Given the description of an element on the screen output the (x, y) to click on. 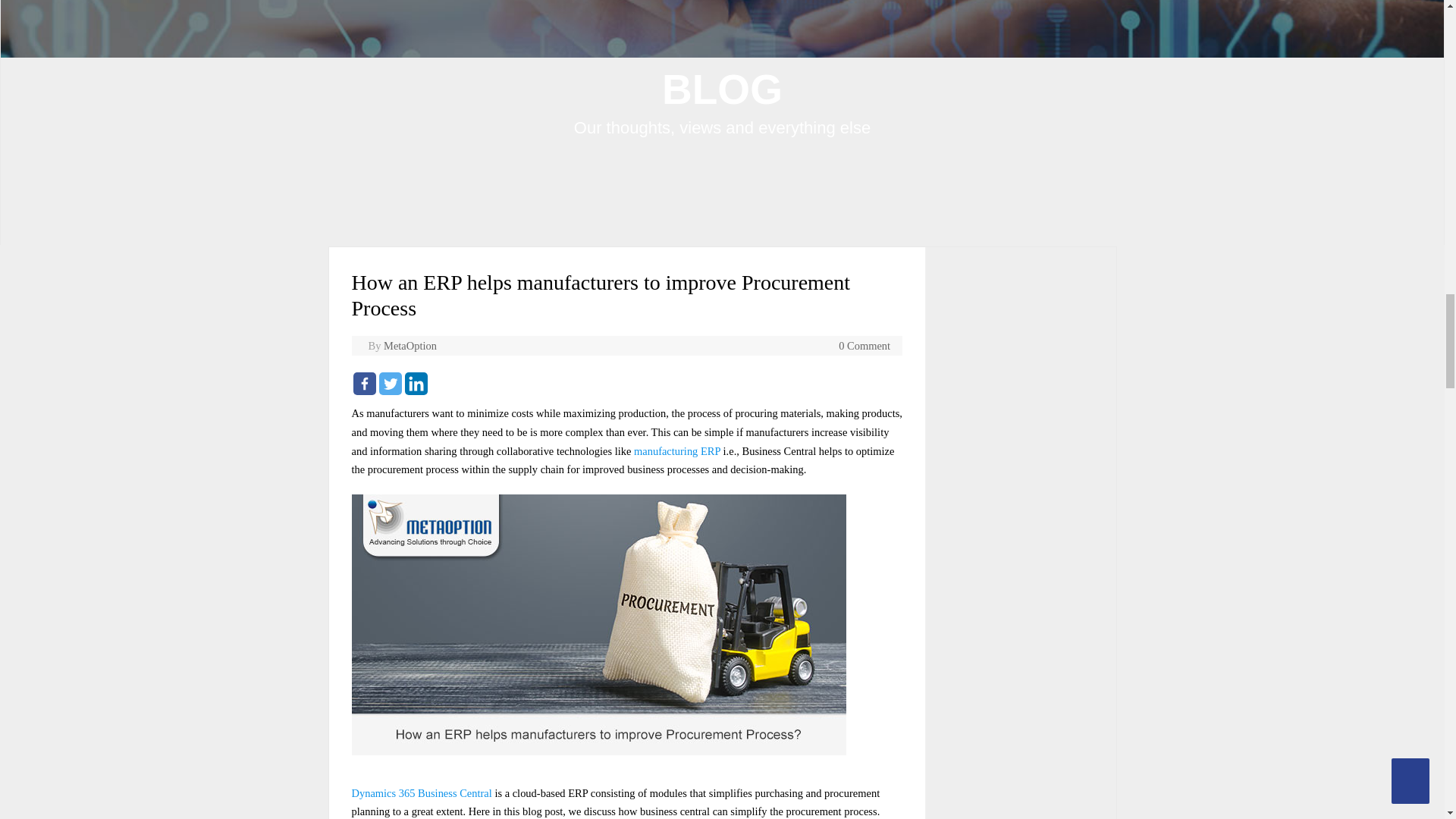
Skip to content (755, 249)
Twitter (389, 383)
Facebook (364, 383)
Posts by MetaOption (410, 345)
Linkedin (416, 383)
